Given the description of an element on the screen output the (x, y) to click on. 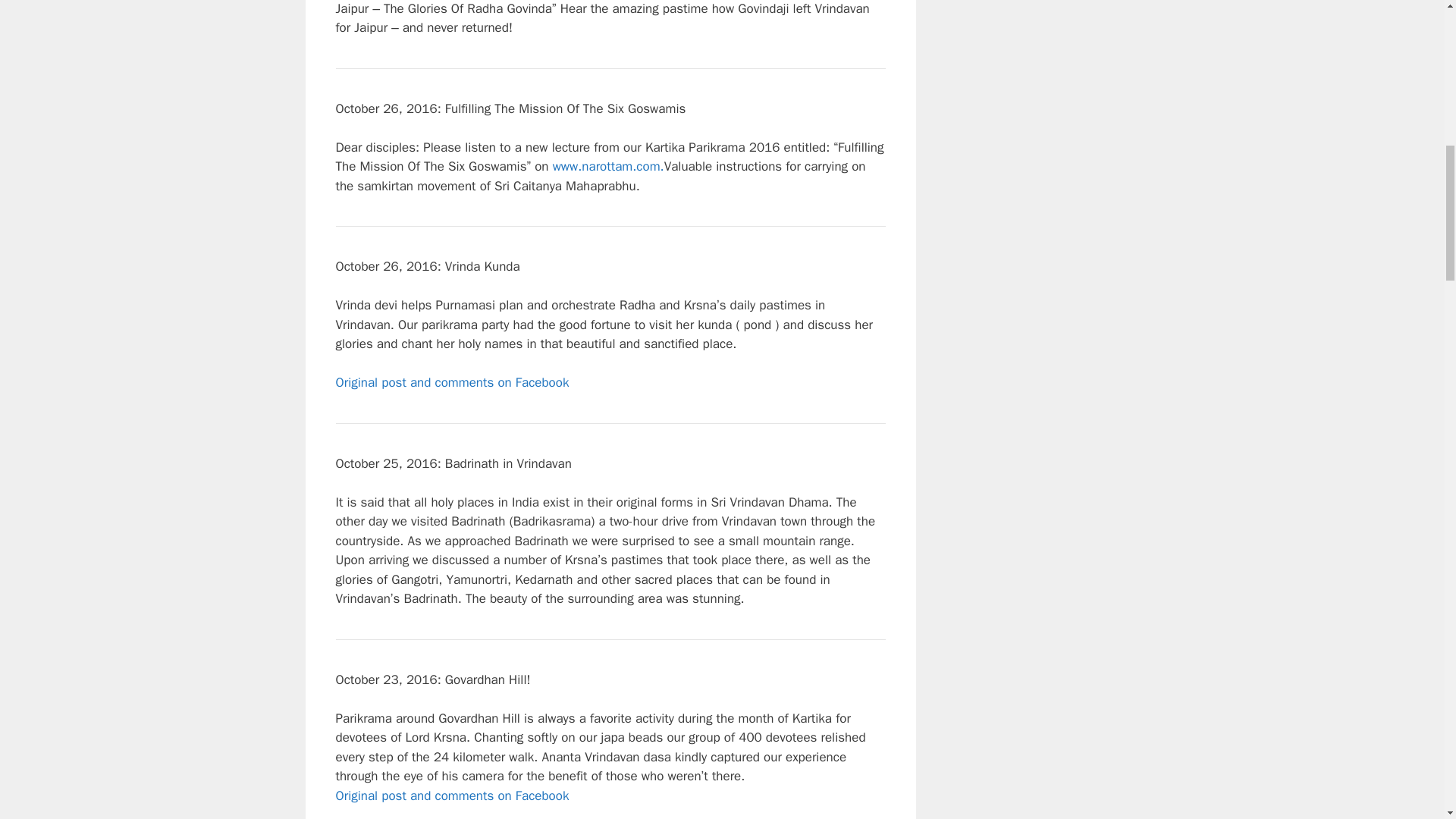
Original post and comments on Facebook (451, 795)
Original post and comments on Facebook (451, 382)
www.narottam.com. (608, 166)
